Given the description of an element on the screen output the (x, y) to click on. 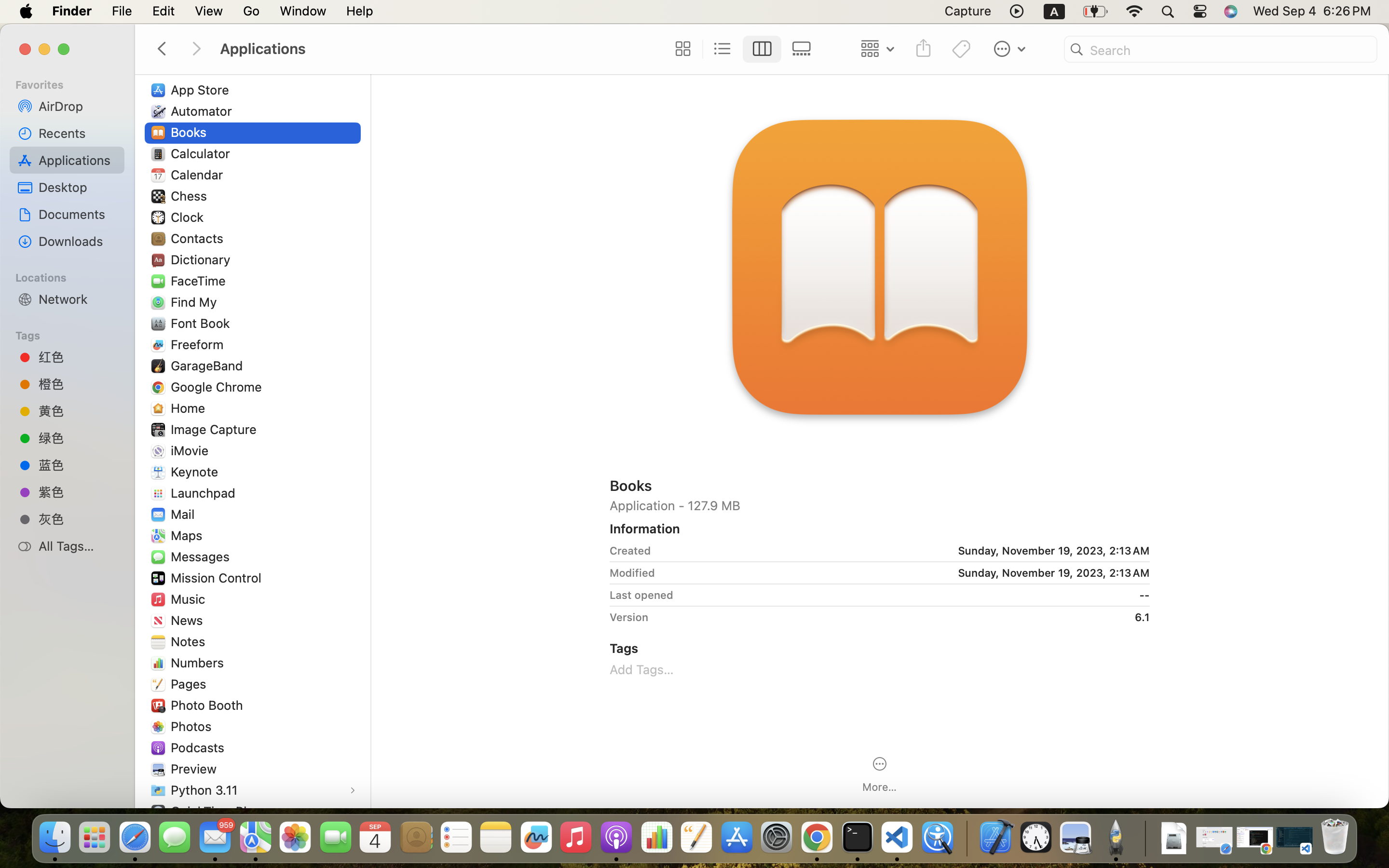
橙色 Element type: AXStaticText (77, 383)
Network Element type: AXStaticText (77, 298)
Mission Control Element type: AXTextField (218, 577)
Applications Element type: AXStaticText (437, 49)
Google Chrome Element type: AXTextField (218, 386)
